Given the description of an element on the screen output the (x, y) to click on. 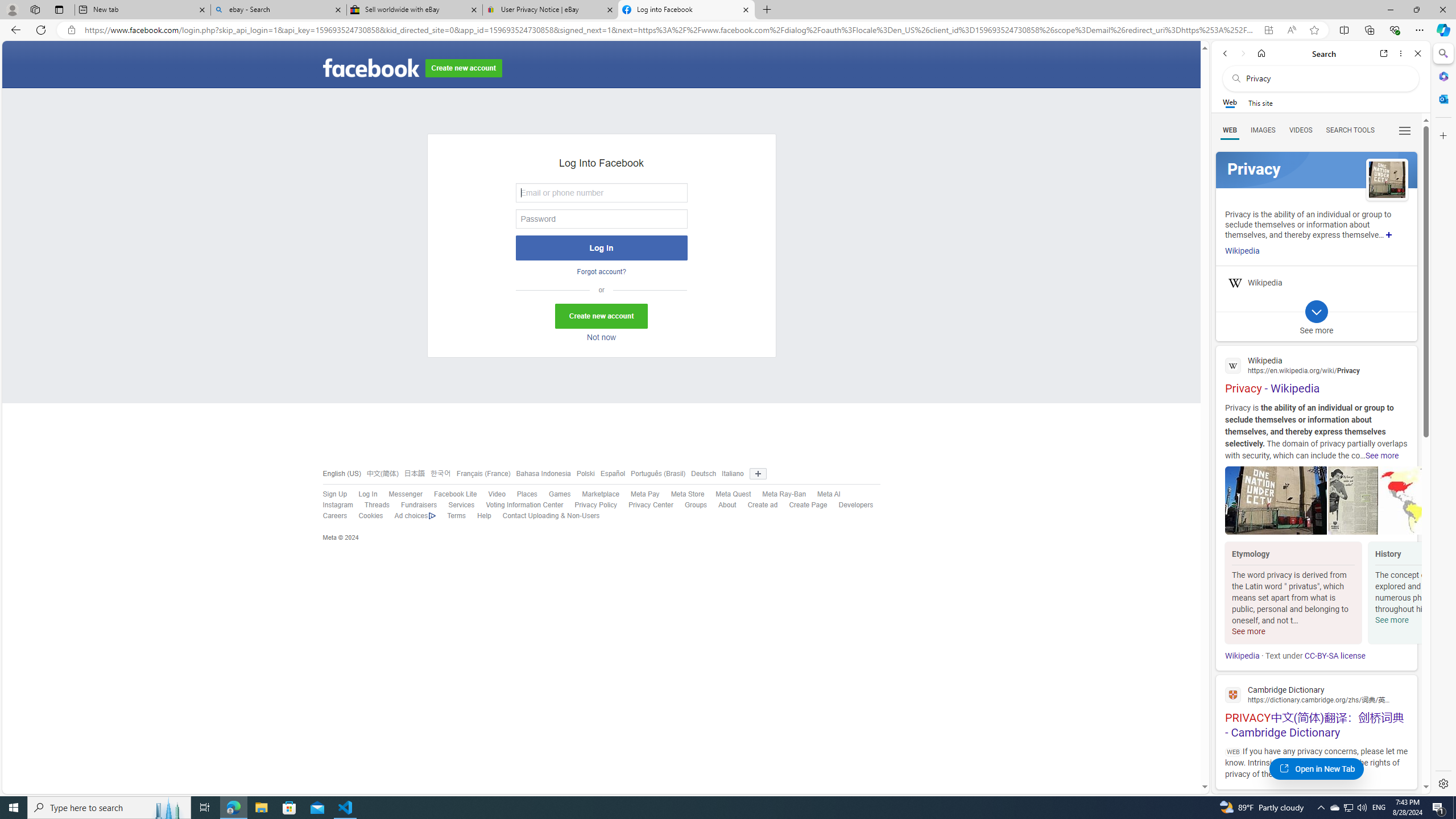
Class: spl_logobg (1315, 169)
Global web icon (1232, 694)
Privacy Center (644, 505)
Cookies (370, 515)
Settings (1442, 783)
Meta Store (687, 493)
Privacy Policy (590, 505)
Threads (371, 505)
Threads (377, 505)
